Given the description of an element on the screen output the (x, y) to click on. 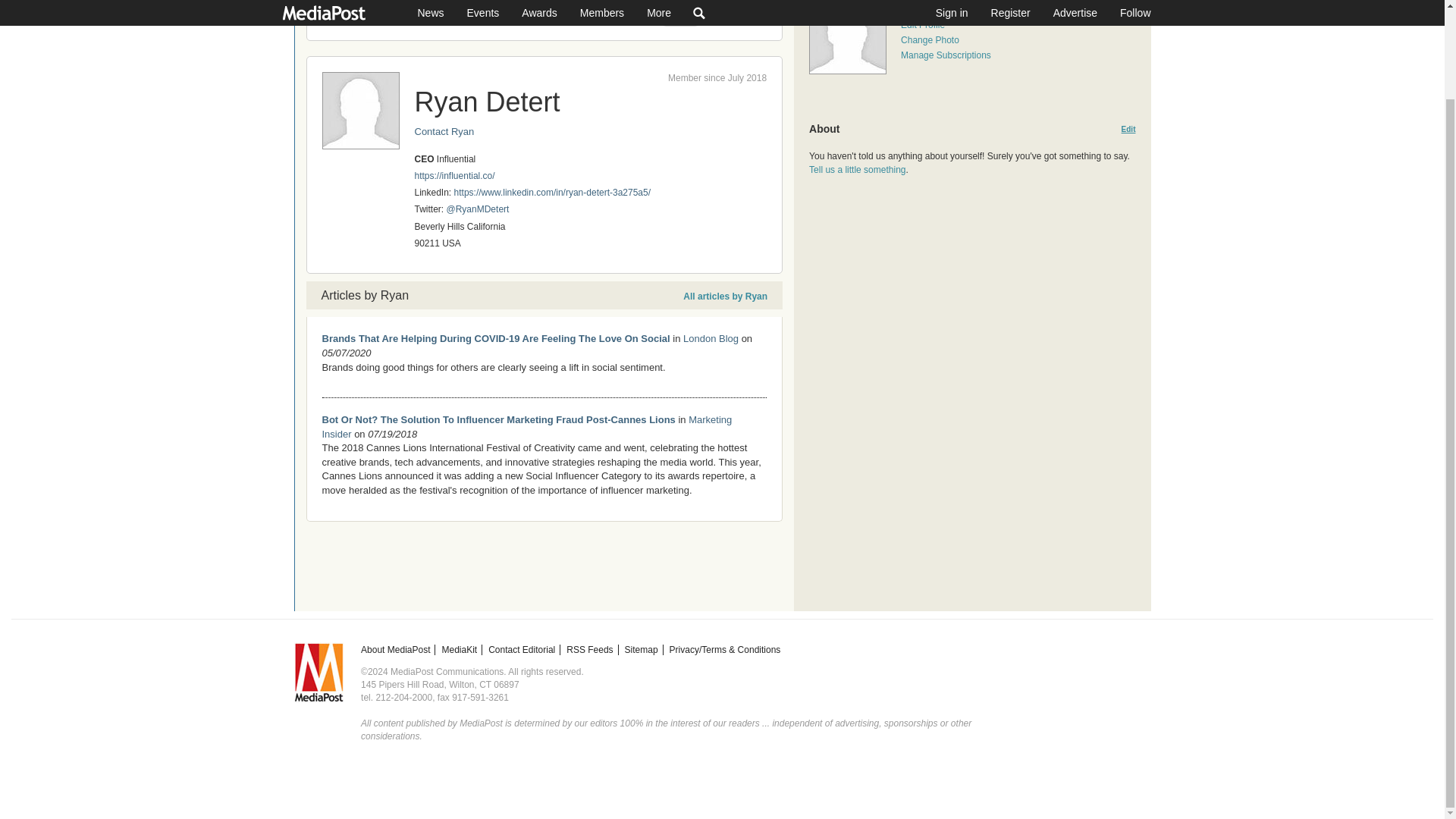
Find (681, 13)
